Given the description of an element on the screen output the (x, y) to click on. 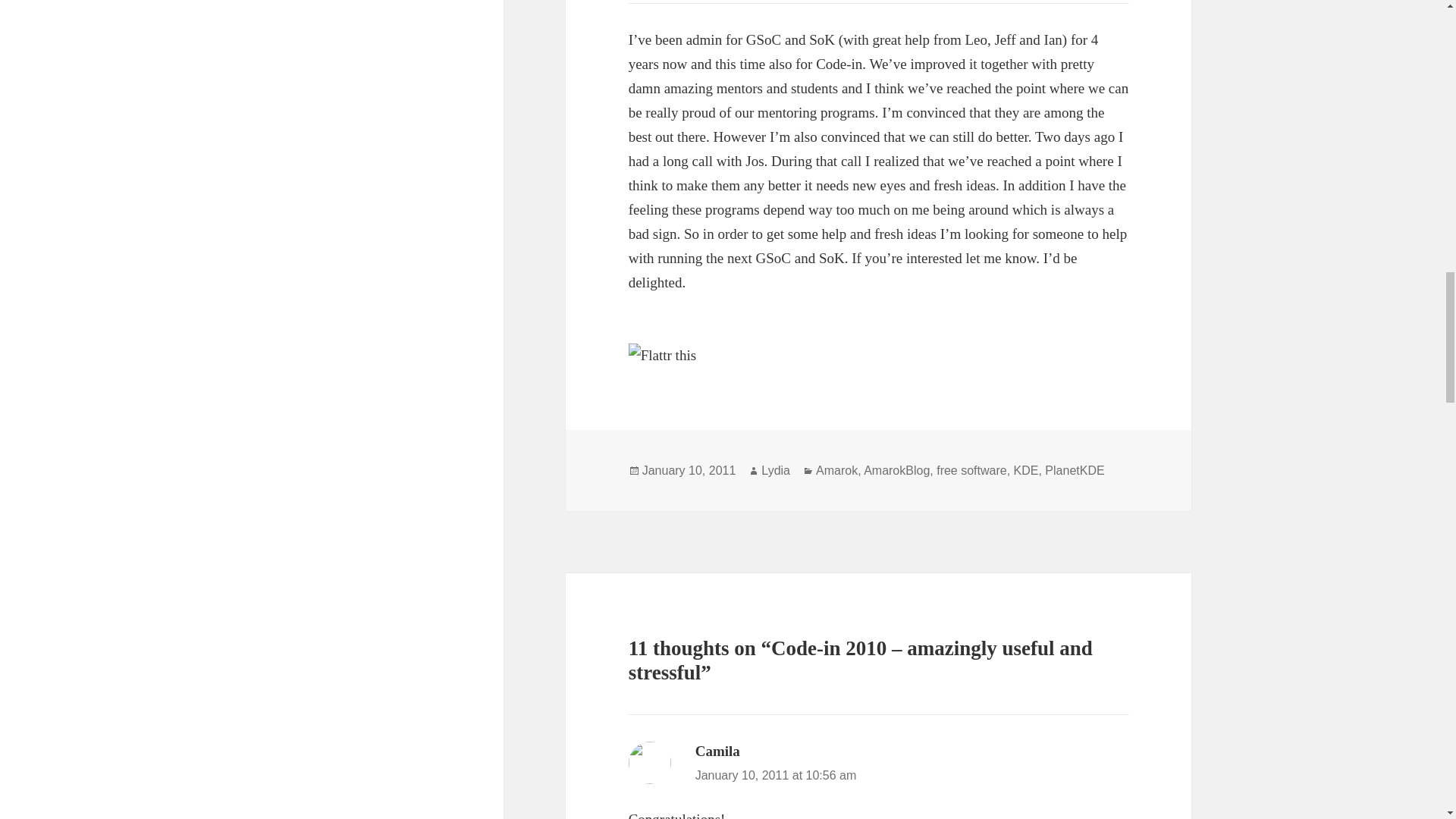
Camila (717, 750)
KDE (1026, 470)
January 10, 2011 at 10:56 am (776, 775)
Amarok (836, 470)
Lydia (775, 470)
Flattr this (878, 355)
free software (971, 470)
AmarokBlog (896, 470)
January 10, 2011 (689, 470)
PlanetKDE (1074, 470)
